Given the description of an element on the screen output the (x, y) to click on. 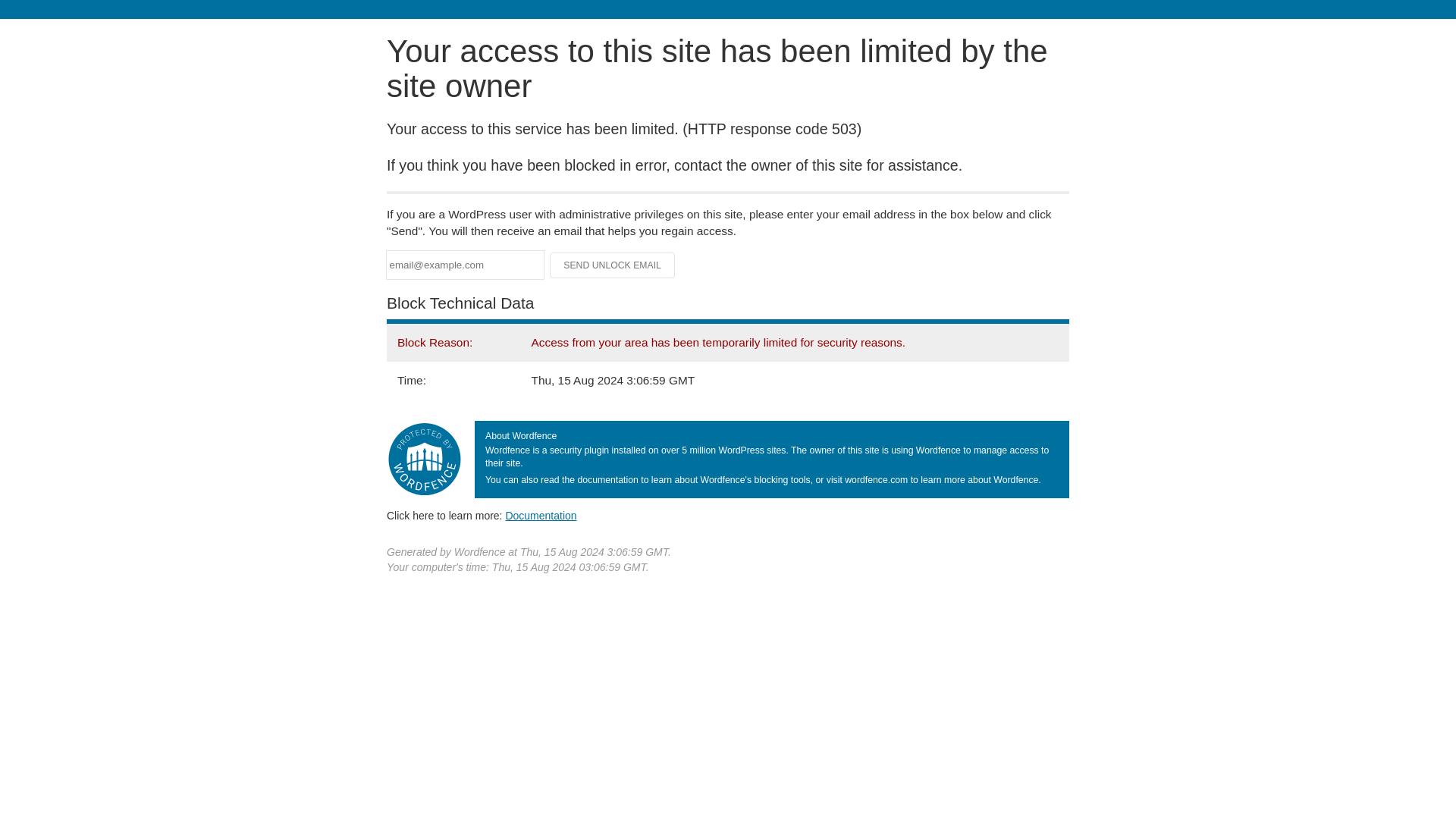
Documentation (540, 515)
Send Unlock Email (612, 265)
Send Unlock Email (612, 265)
